Given the description of an element on the screen output the (x, y) to click on. 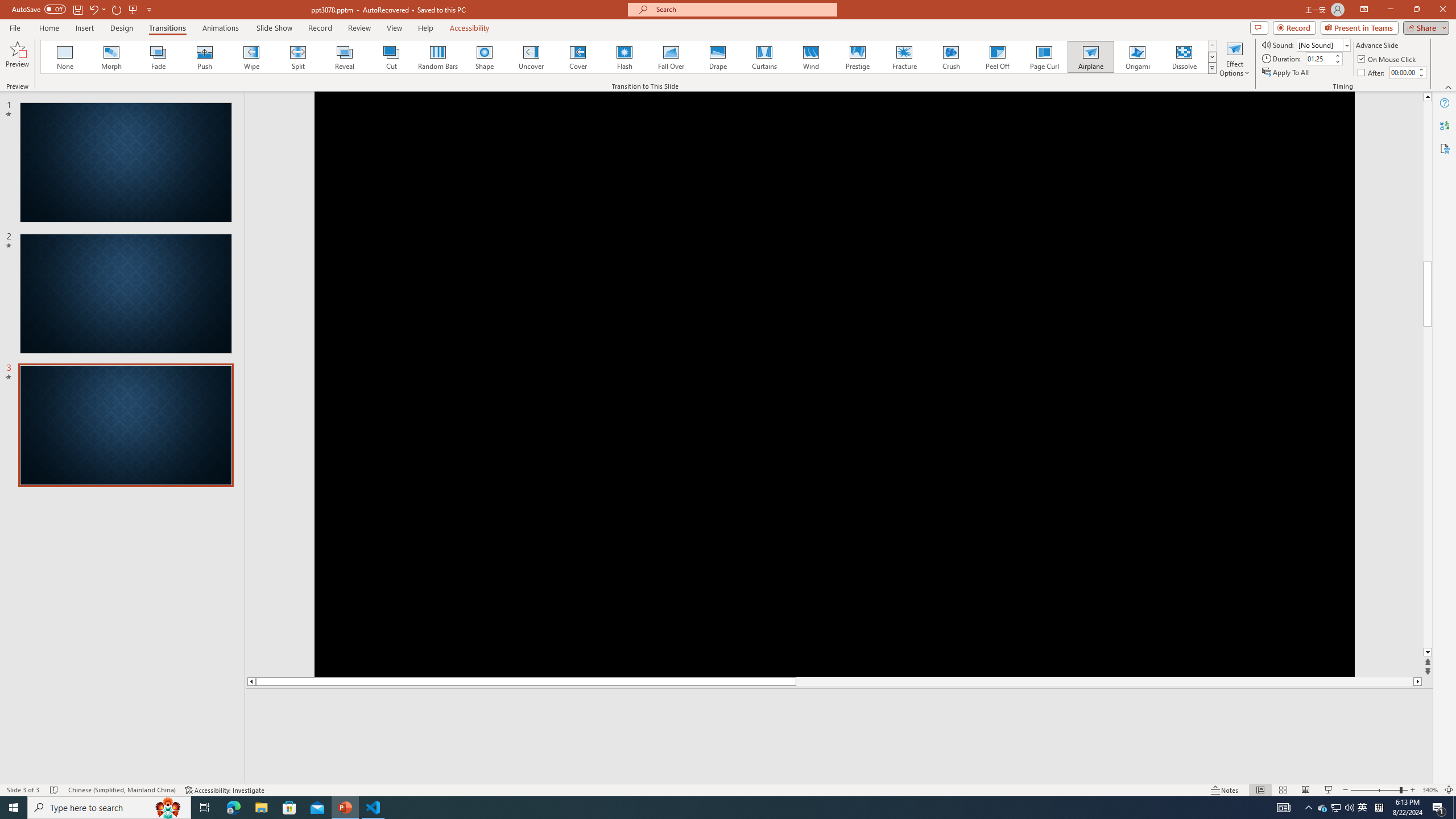
Uncover (531, 56)
Wind (810, 56)
